Given the description of an element on the screen output the (x, y) to click on. 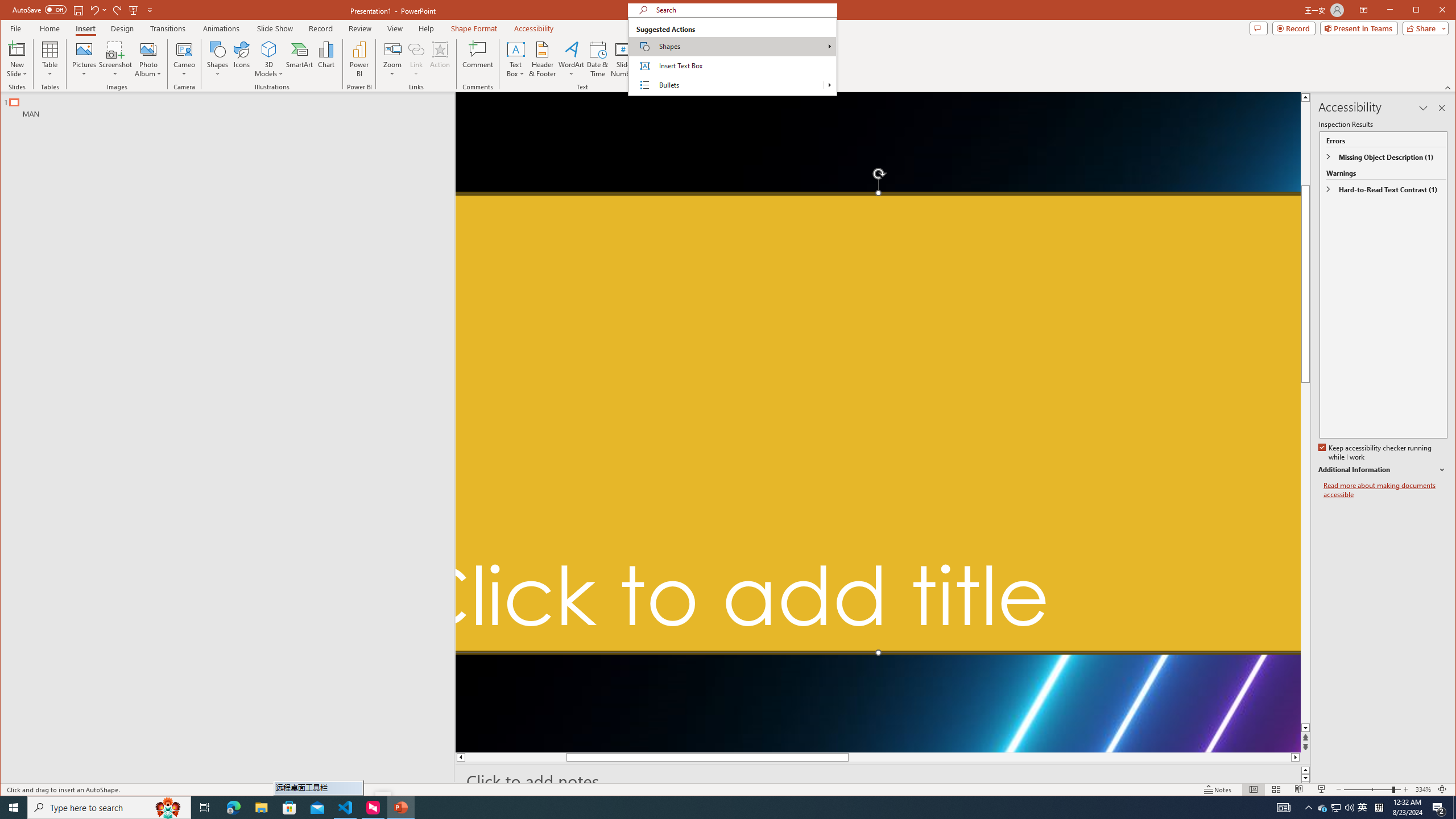
WordArt (571, 59)
Additional Information (1382, 469)
Object... (649, 59)
Pictures (84, 59)
Class: NetUITWMenuContainer (731, 56)
